Given the description of an element on the screen output the (x, y) to click on. 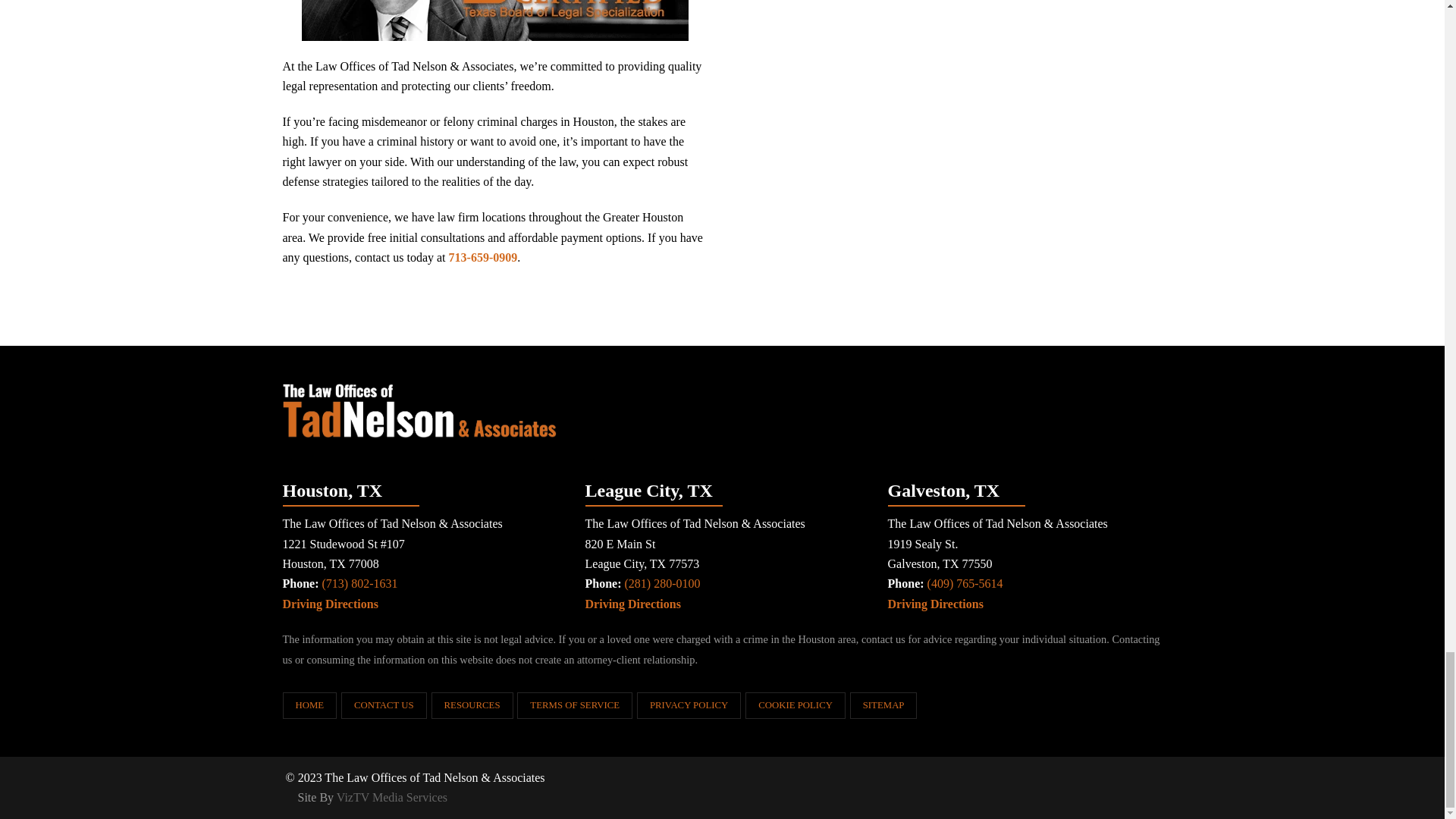
Houston criminal defense lawyer Tad Nelson (494, 20)
